Given the description of an element on the screen output the (x, y) to click on. 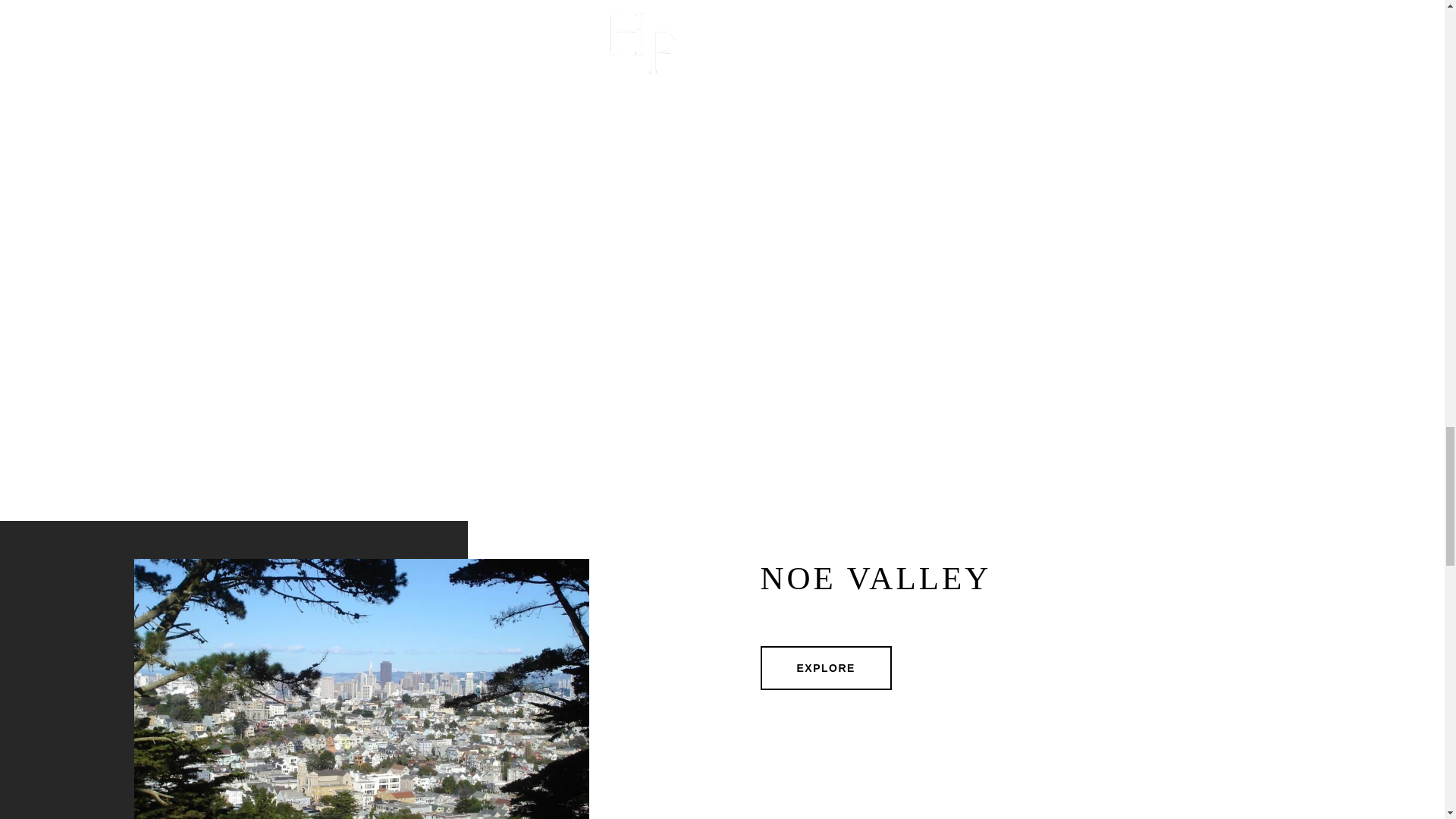
EXPLORE (825, 668)
